Given the description of an element on the screen output the (x, y) to click on. 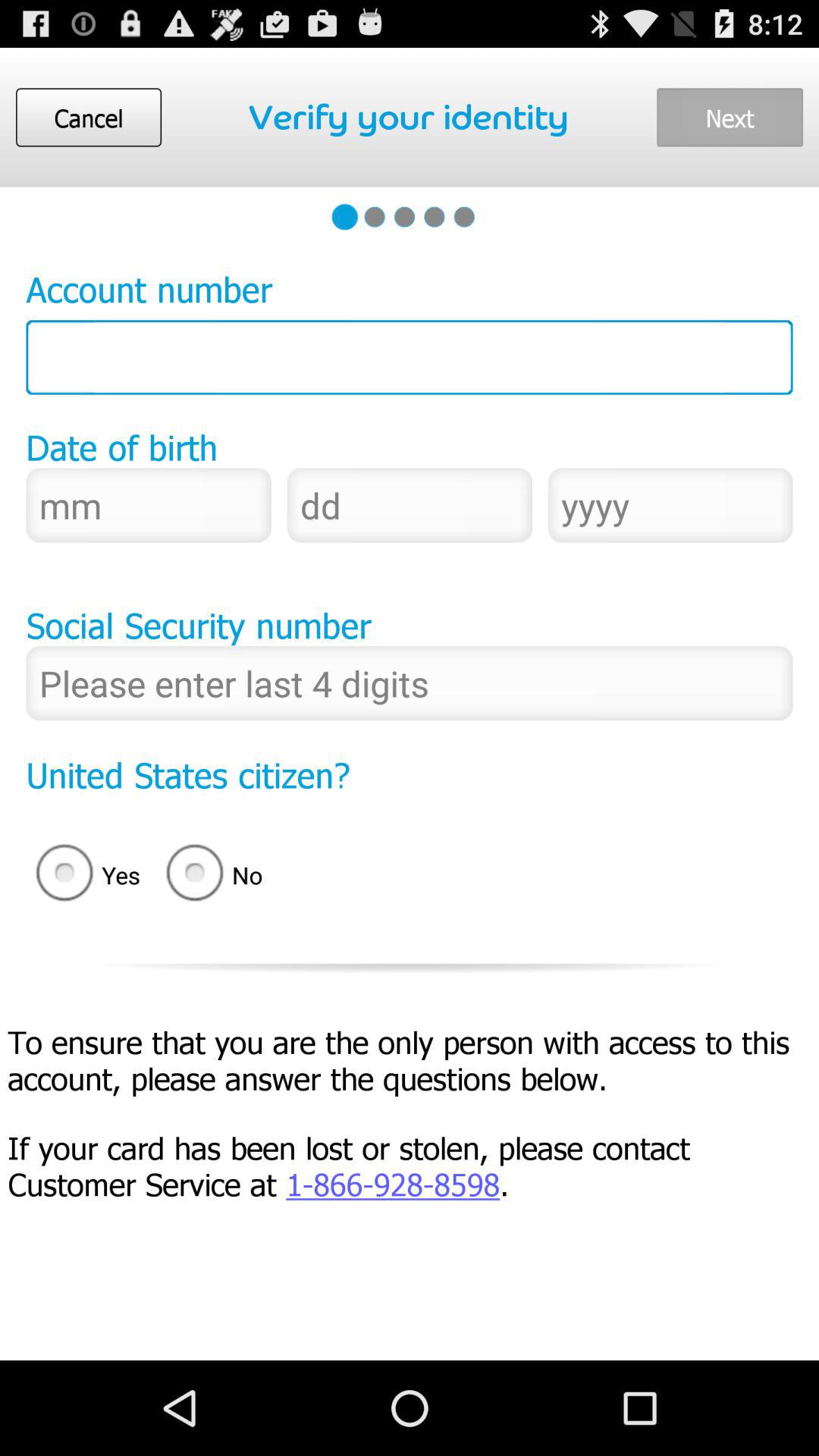
select the item next to verify your identity (729, 117)
